Given the description of an element on the screen output the (x, y) to click on. 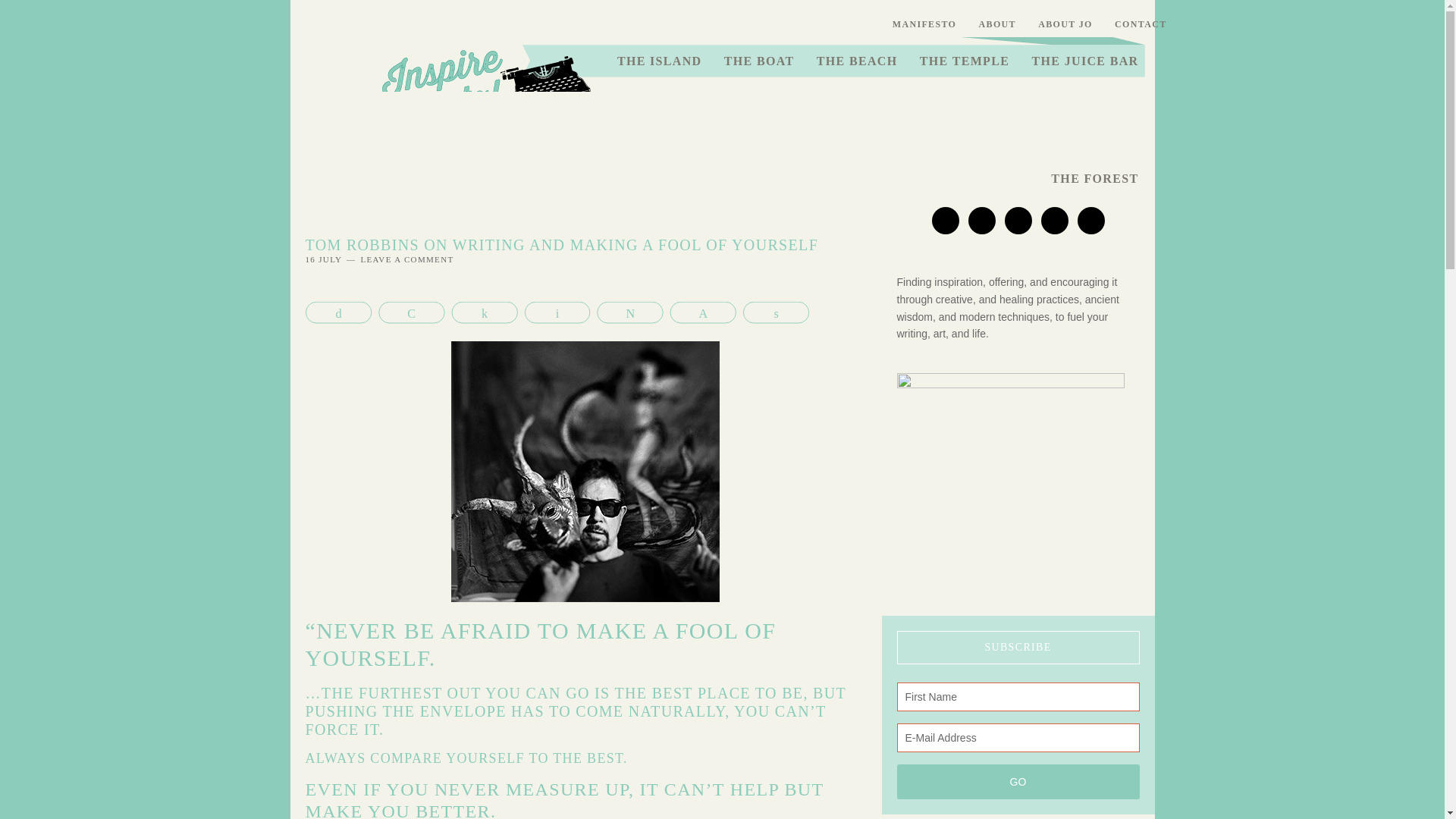
THE TEMPLE (964, 61)
ABOUT JO (1064, 23)
THE JUICE BAR (1085, 61)
ABOUT (997, 23)
THE BEACH (856, 61)
Go (1017, 781)
CONTACT (1140, 23)
MANIFESTO (924, 23)
THE FOREST (1094, 178)
THE BOAT (759, 61)
THE ISLAND (659, 61)
